Given the description of an element on the screen output the (x, y) to click on. 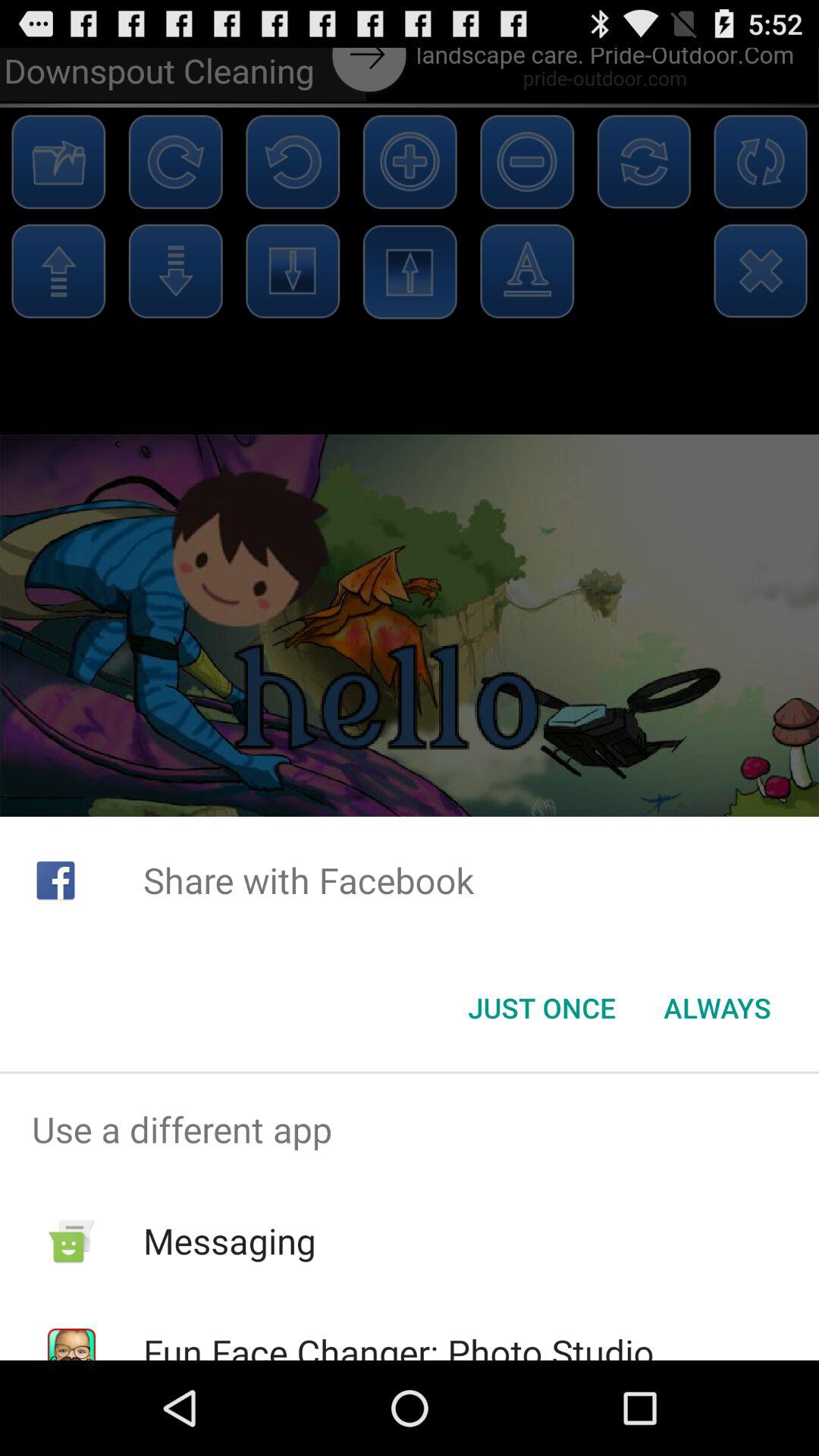
choose the fun face changer icon (398, 1344)
